Given the description of an element on the screen output the (x, y) to click on. 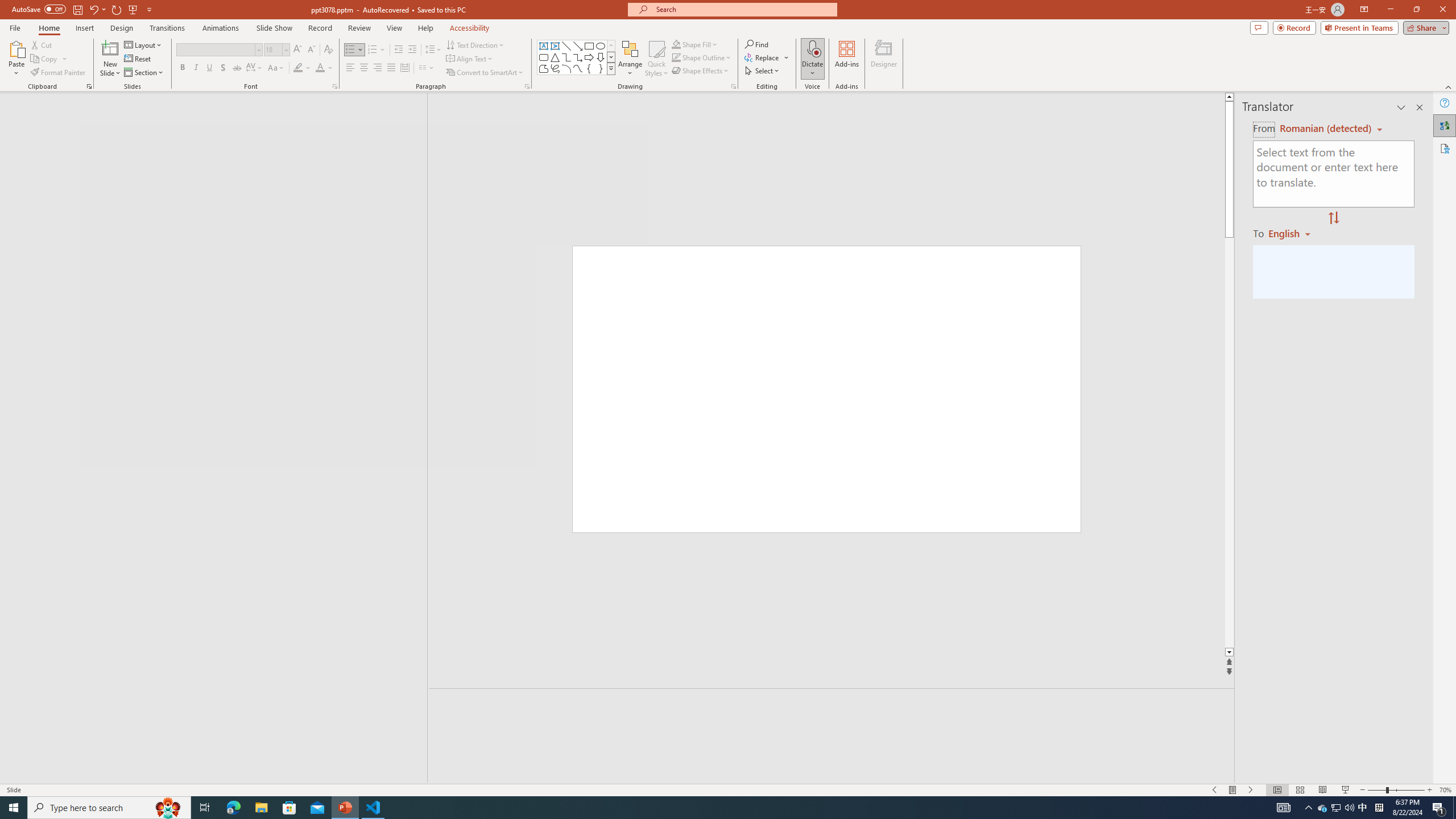
Font (219, 49)
Zoom 70% (1445, 790)
Paragraph... (526, 85)
Row up (611, 45)
Shapes (611, 68)
Center (363, 67)
Bullets (354, 49)
Layout (143, 44)
Menu On (1232, 790)
Arrow: Right (589, 57)
Cut (42, 44)
Decrease Font Size (310, 49)
